Given the description of an element on the screen output the (x, y) to click on. 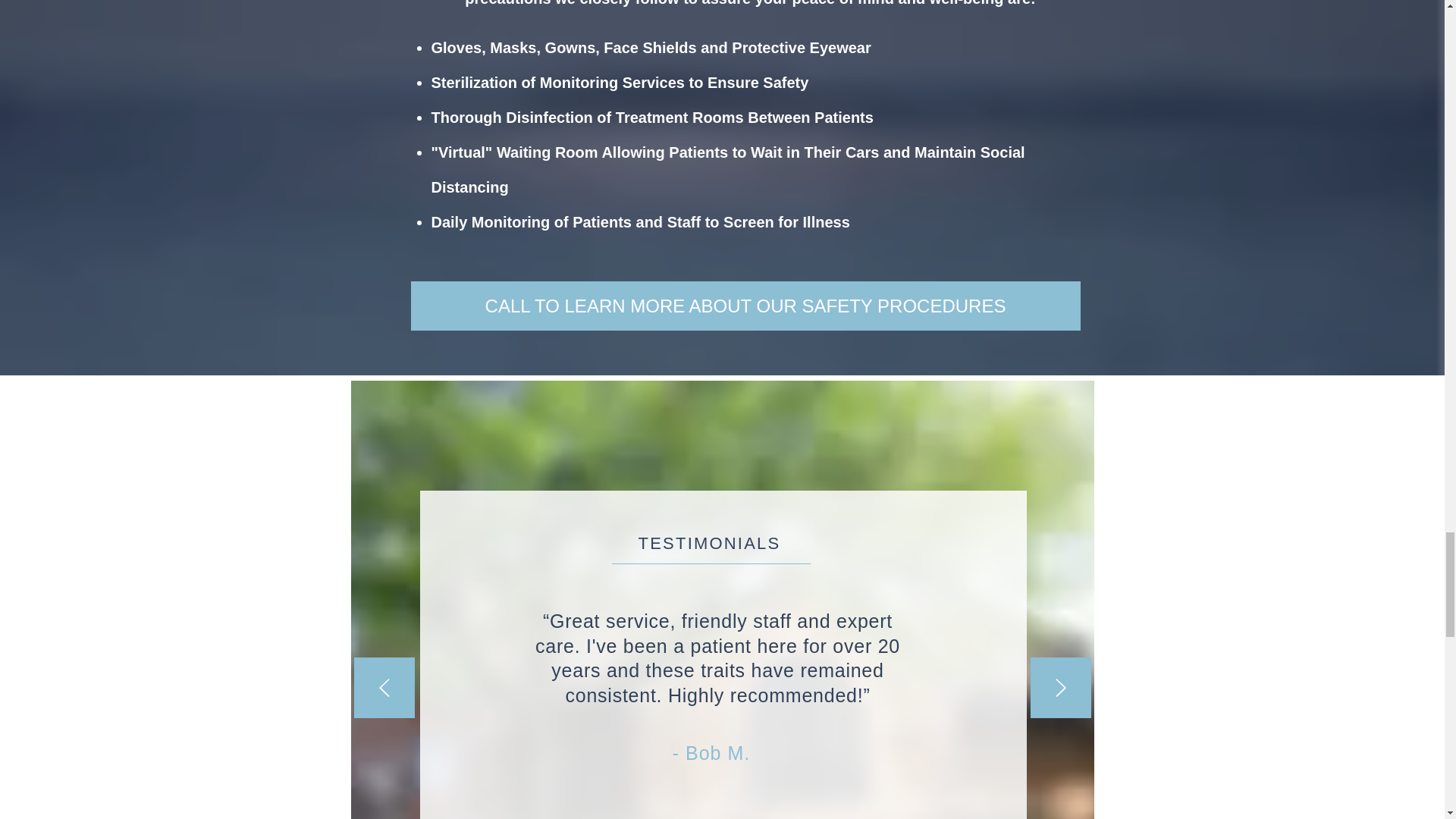
CALL TO LEARN MORE ABOUT OUR SAFETY PROCEDURES (745, 305)
